Given the description of an element on the screen output the (x, y) to click on. 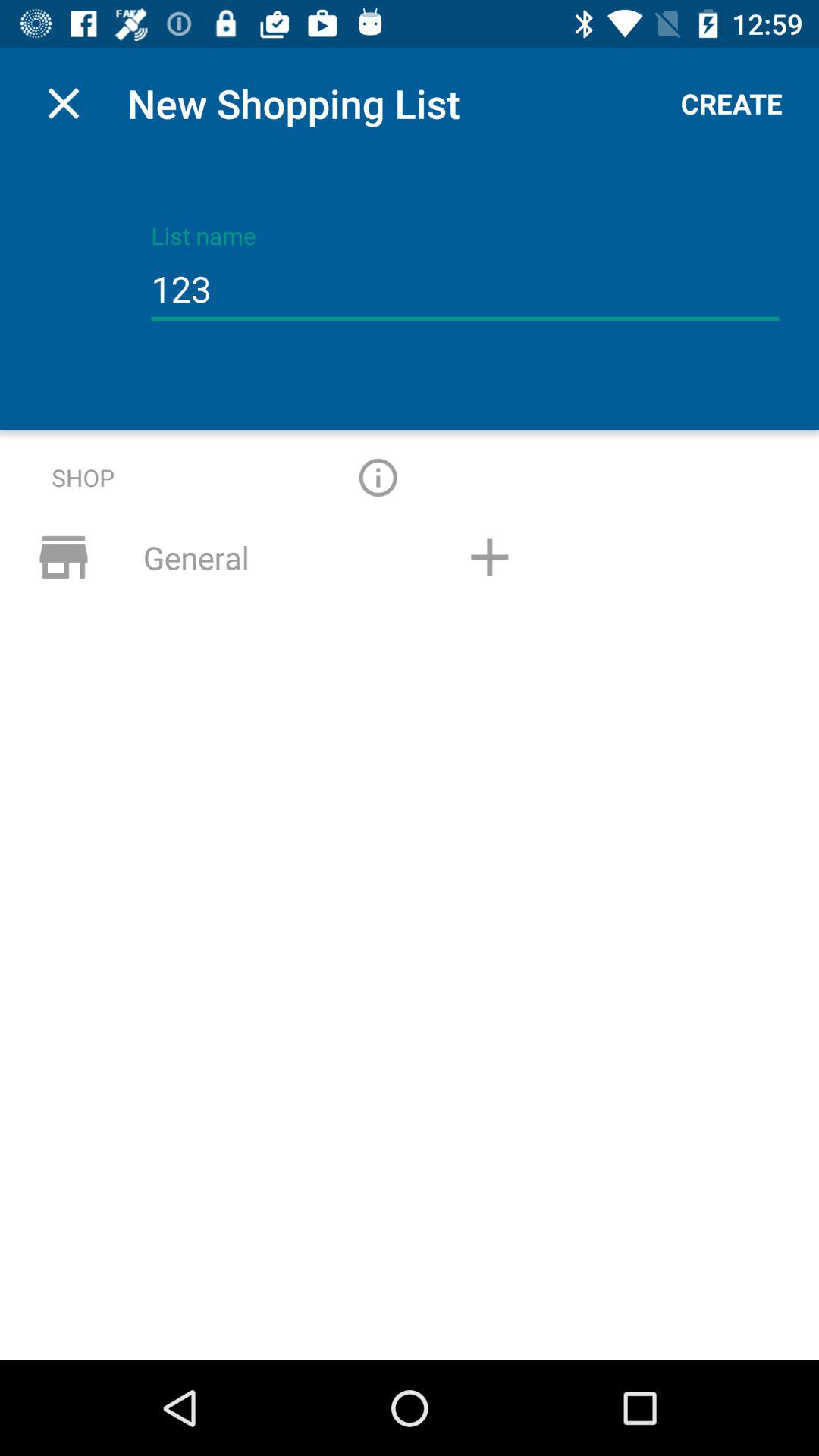
view more information (377, 477)
